Given the description of an element on the screen output the (x, y) to click on. 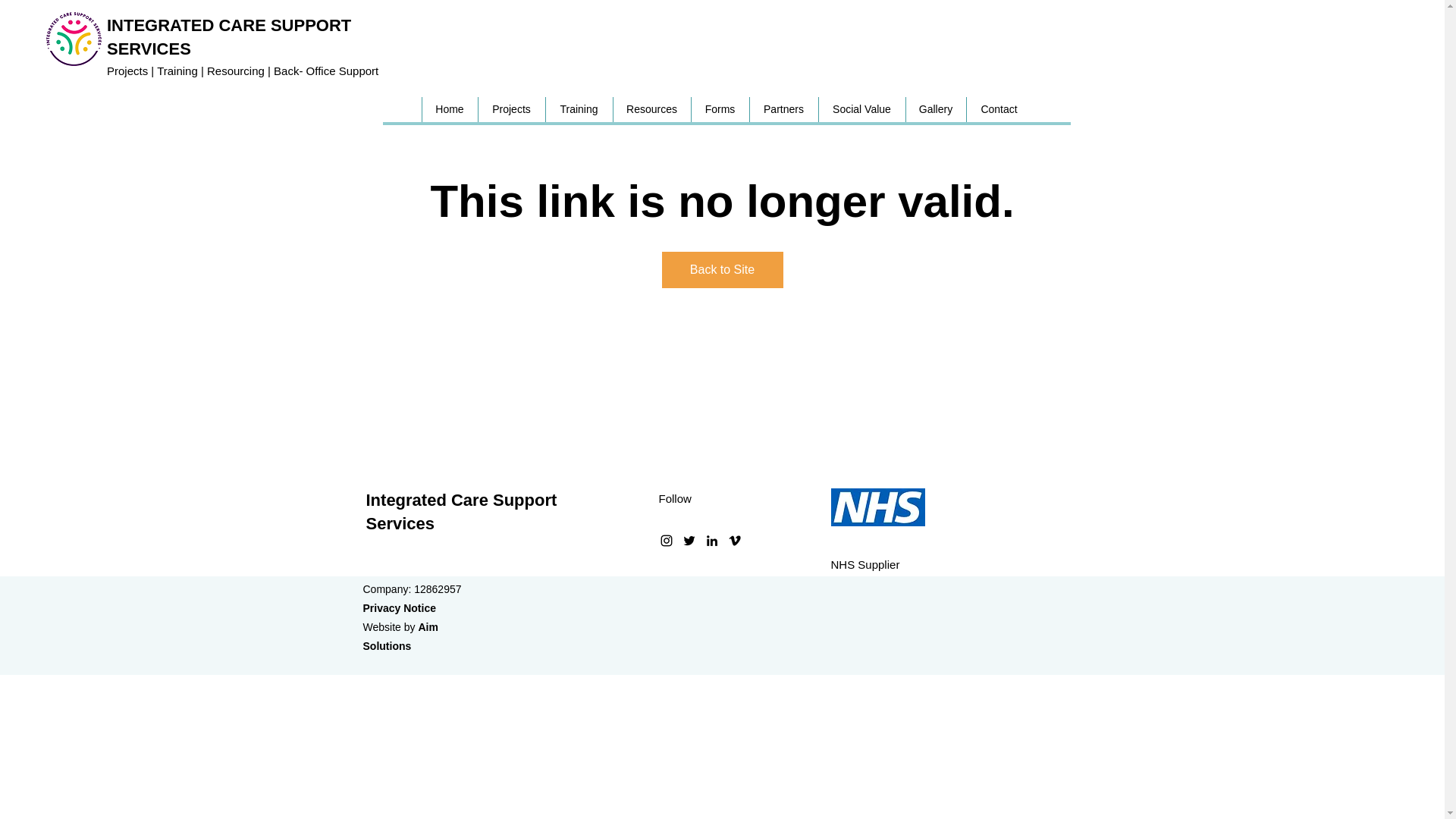
Back to Site (722, 269)
INTEGRATED CARE SUPPORT SERVICES (228, 36)
Training (577, 109)
Social Value (860, 109)
Forms (719, 109)
Privacy Notice (398, 607)
Aim Solutions (400, 635)
Partners (783, 109)
Contact (999, 109)
Integrated Care Support Services (460, 511)
